Given the description of an element on the screen output the (x, y) to click on. 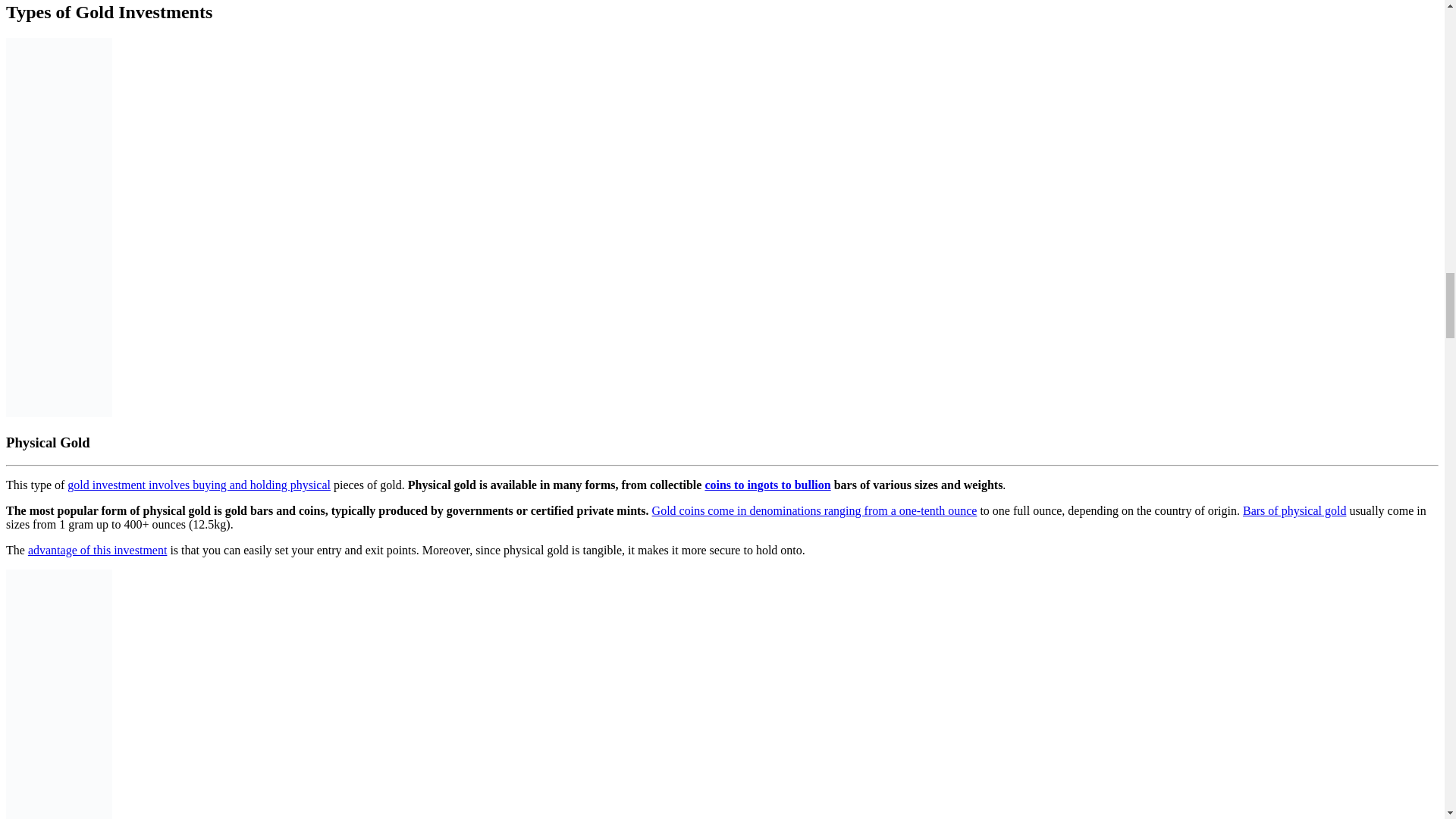
Investing In Gold Tax Free (58, 694)
coins to ingots to bullion (766, 484)
advantage of this investment (97, 549)
Bars of physical gold (1294, 510)
gold investment involves buying and holding physical (198, 484)
Investing In Gold Tax Free (58, 226)
